Given the description of an element on the screen output the (x, y) to click on. 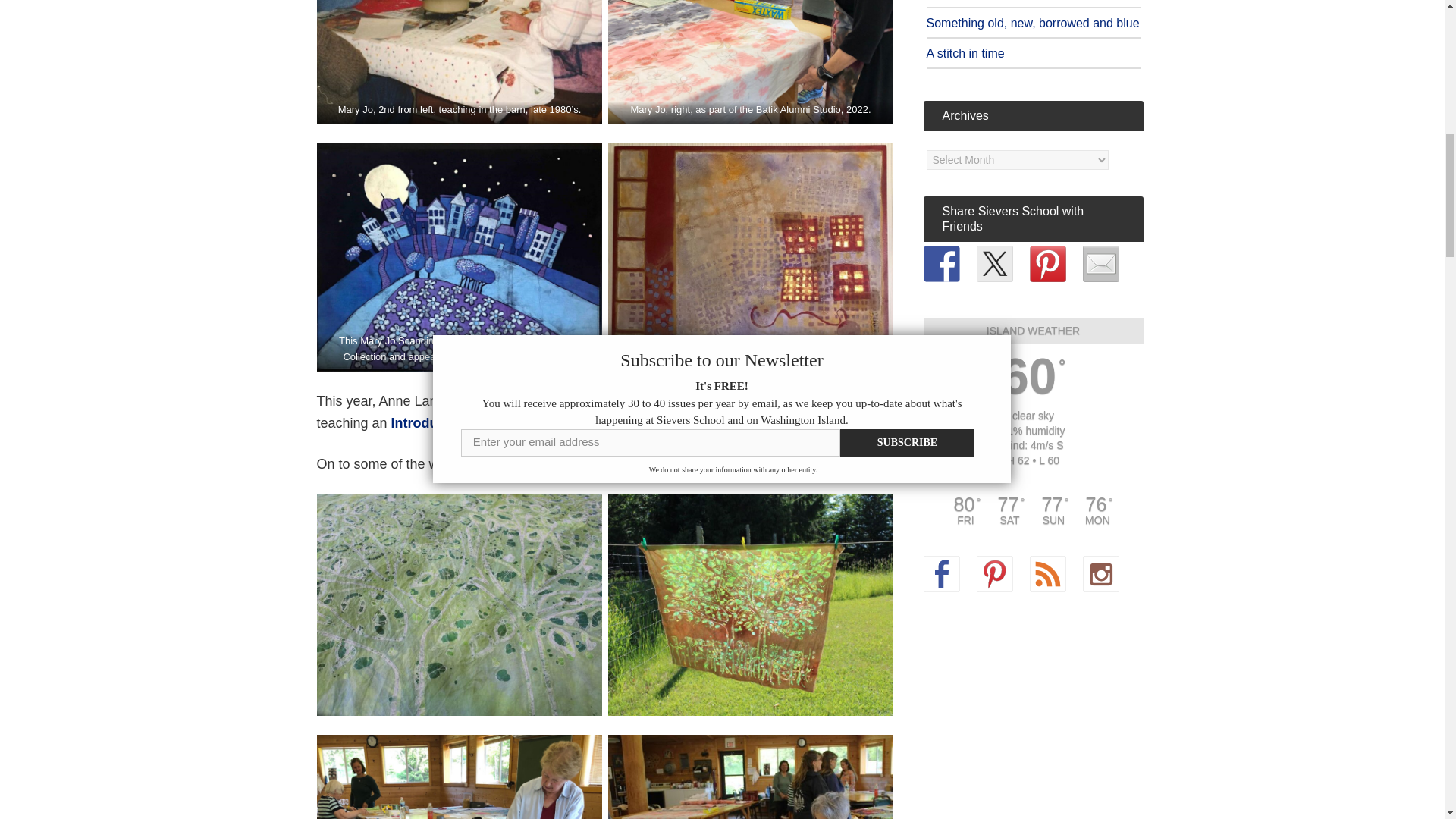
Share by Email (1101, 263)
Something old, new, borrowed and blue (1033, 22)
Share on Facebook (941, 263)
Share on Twitter (994, 263)
Pin it with Pinterest (1047, 263)
Introduction to Batik class (476, 422)
